Given the description of an element on the screen output the (x, y) to click on. 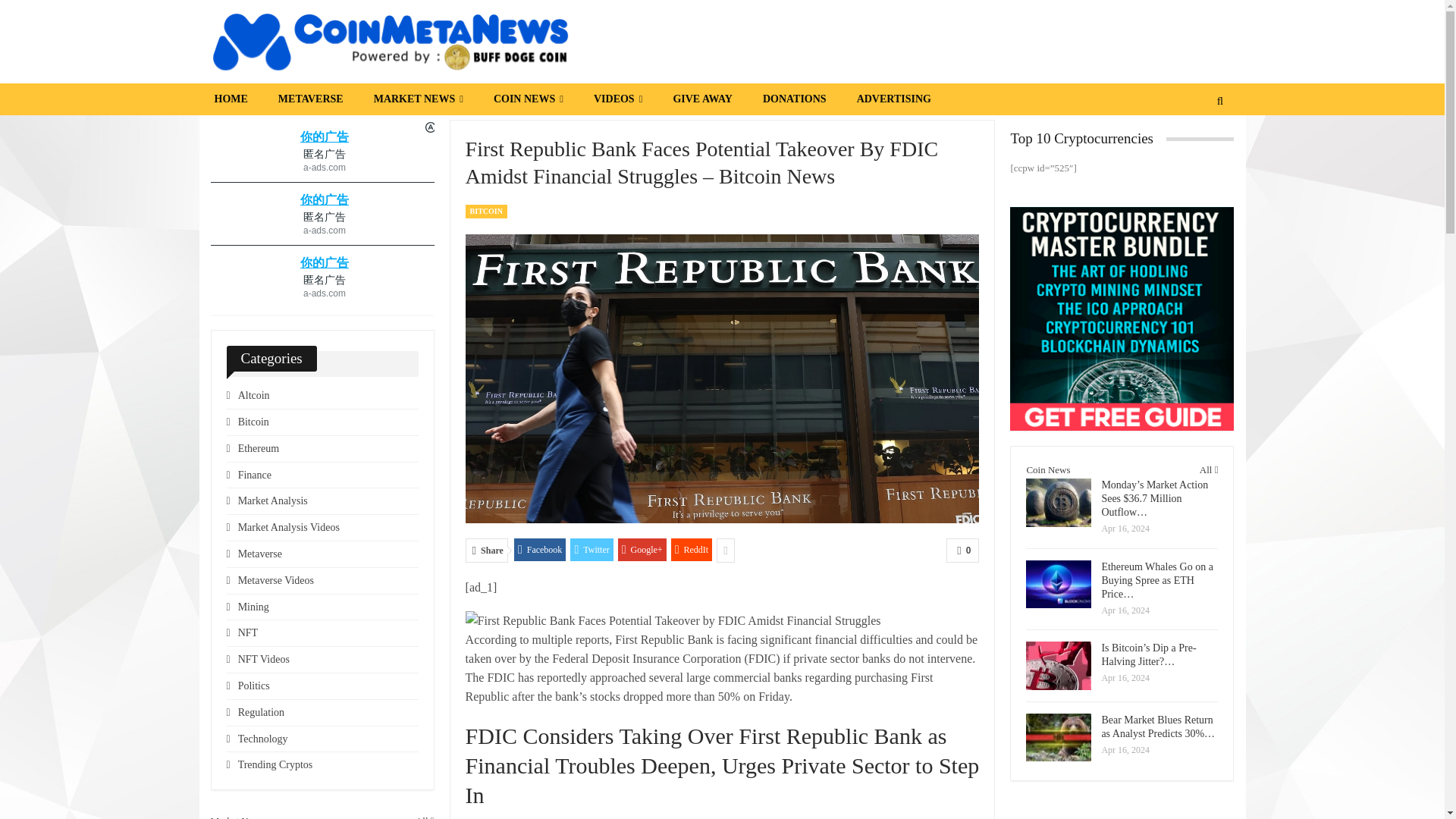
MARKET NEWS (418, 99)
METAVERSE (310, 99)
COIN NEWS (528, 99)
HOME (230, 99)
